Given the description of an element on the screen output the (x, y) to click on. 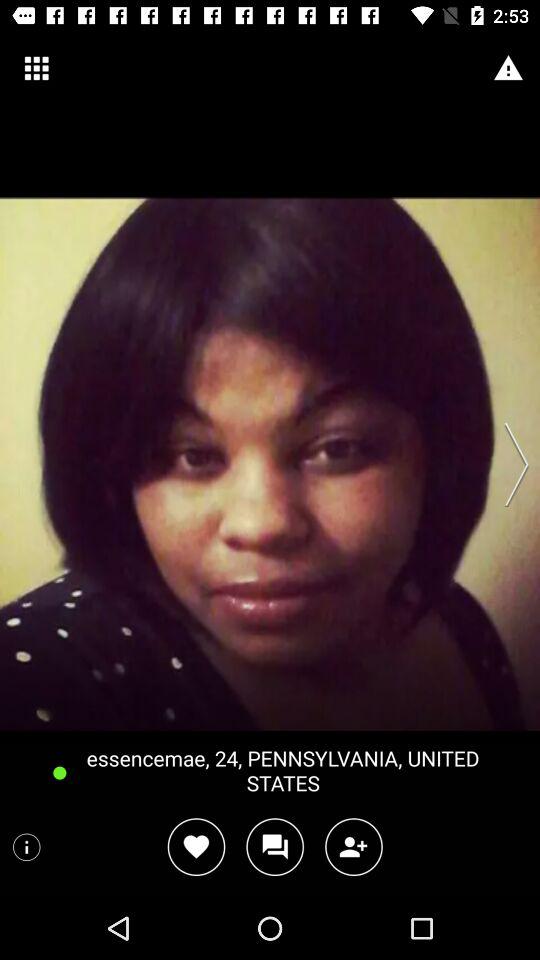
select item below essencemae 24 pennsylvania (353, 846)
